Given the description of an element on the screen output the (x, y) to click on. 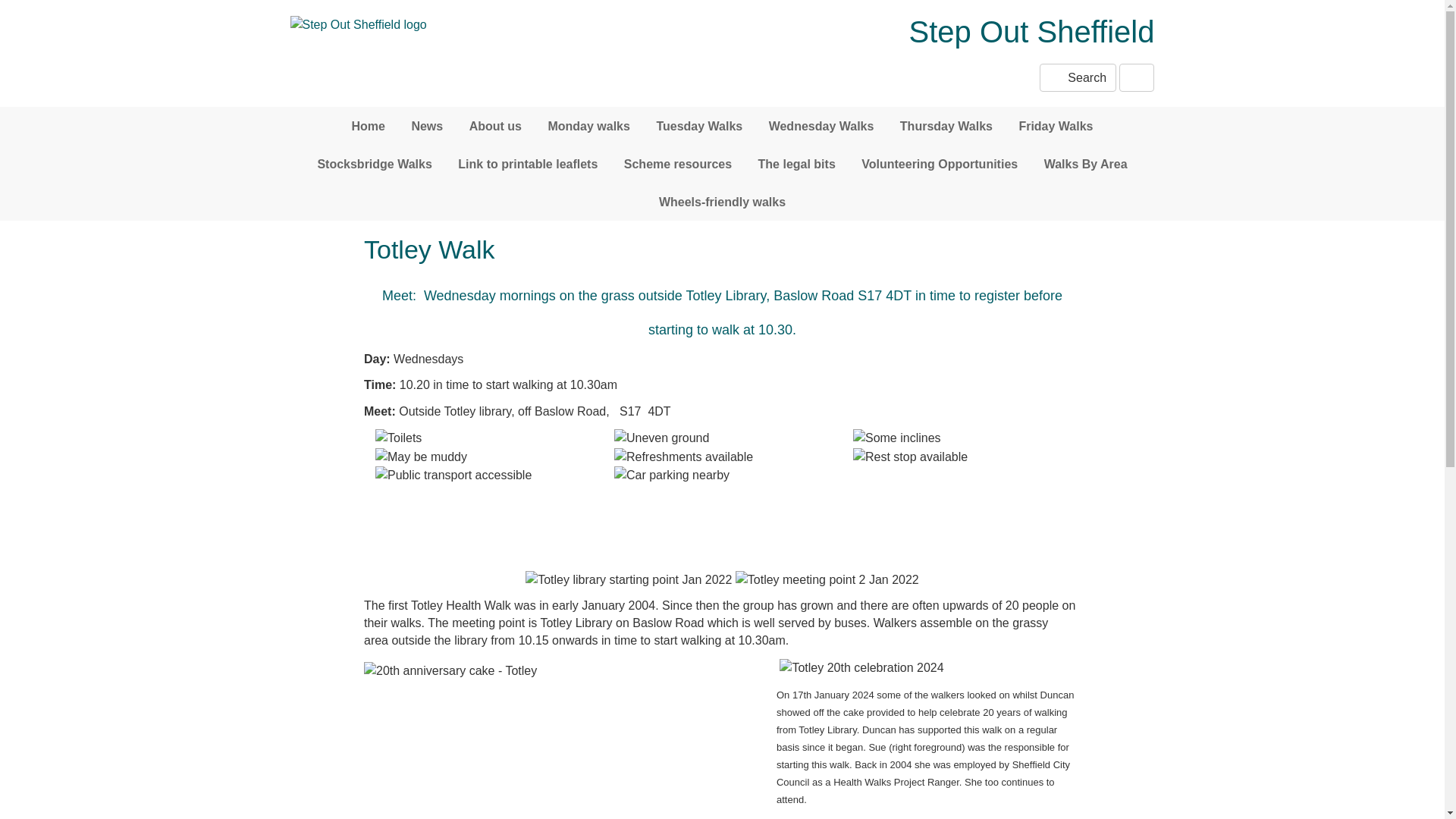
Rest stop available (910, 456)
Uneven ground (661, 437)
Monday walks (587, 125)
Home (367, 125)
Walks By Area (1085, 163)
About us (495, 125)
Toilets (398, 437)
Car parking nearby (671, 475)
Some inclines (896, 437)
Refreshments available (683, 456)
